Given the description of an element on the screen output the (x, y) to click on. 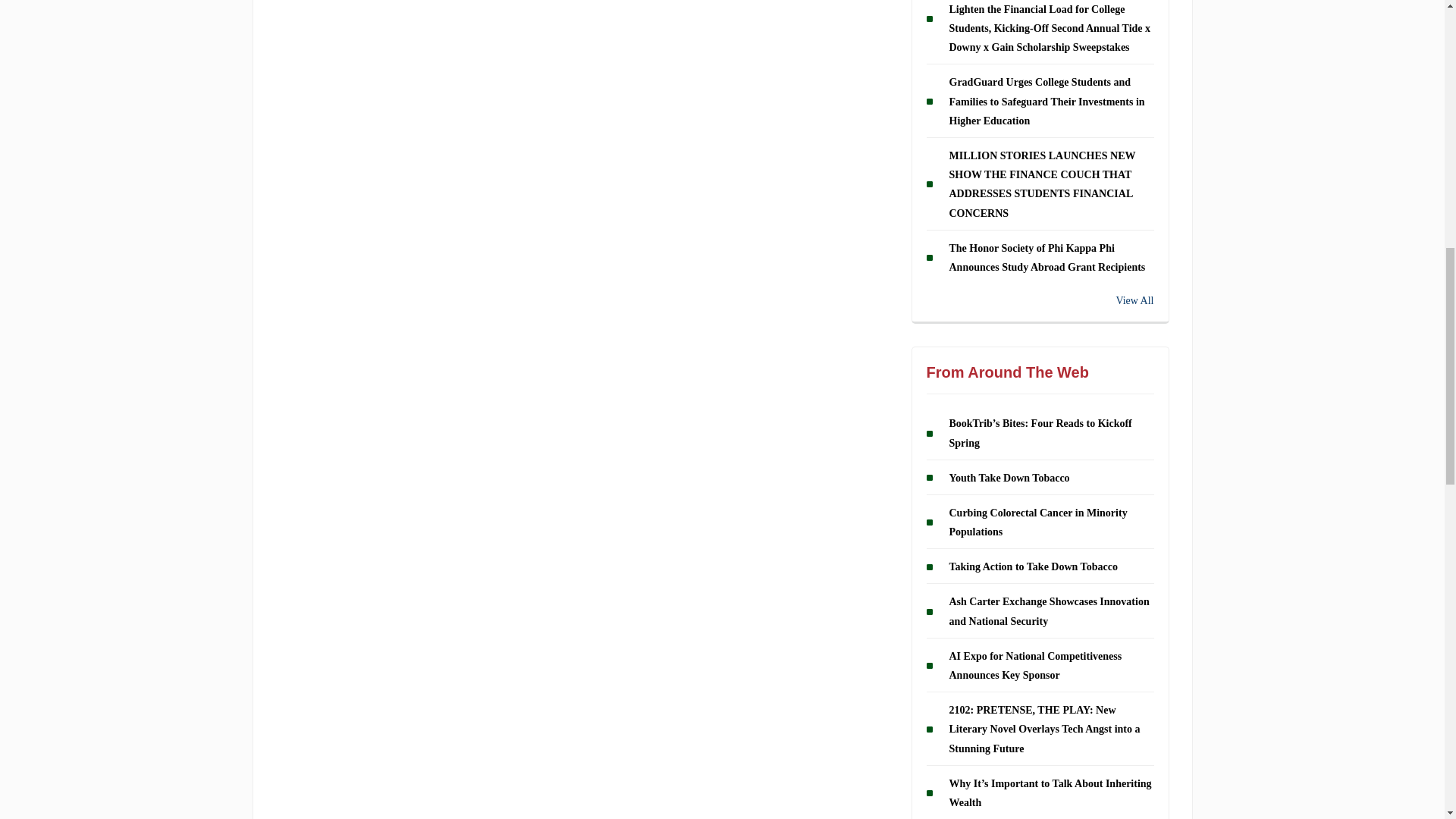
AI Expo for National Competitiveness Announces Key Sponsor (1035, 665)
Youth Take Down Tobacco (1009, 478)
Curbing Colorectal Cancer in Minority Populations (1037, 521)
Taking Action to Take Down Tobacco (1033, 566)
Taking Action to Take Down Tobacco (1033, 566)
AI Expo for National Competitiveness Announces Key Sponsor (1035, 665)
Curbing Colorectal Cancer in Minority Populations (1037, 521)
